Given the description of an element on the screen output the (x, y) to click on. 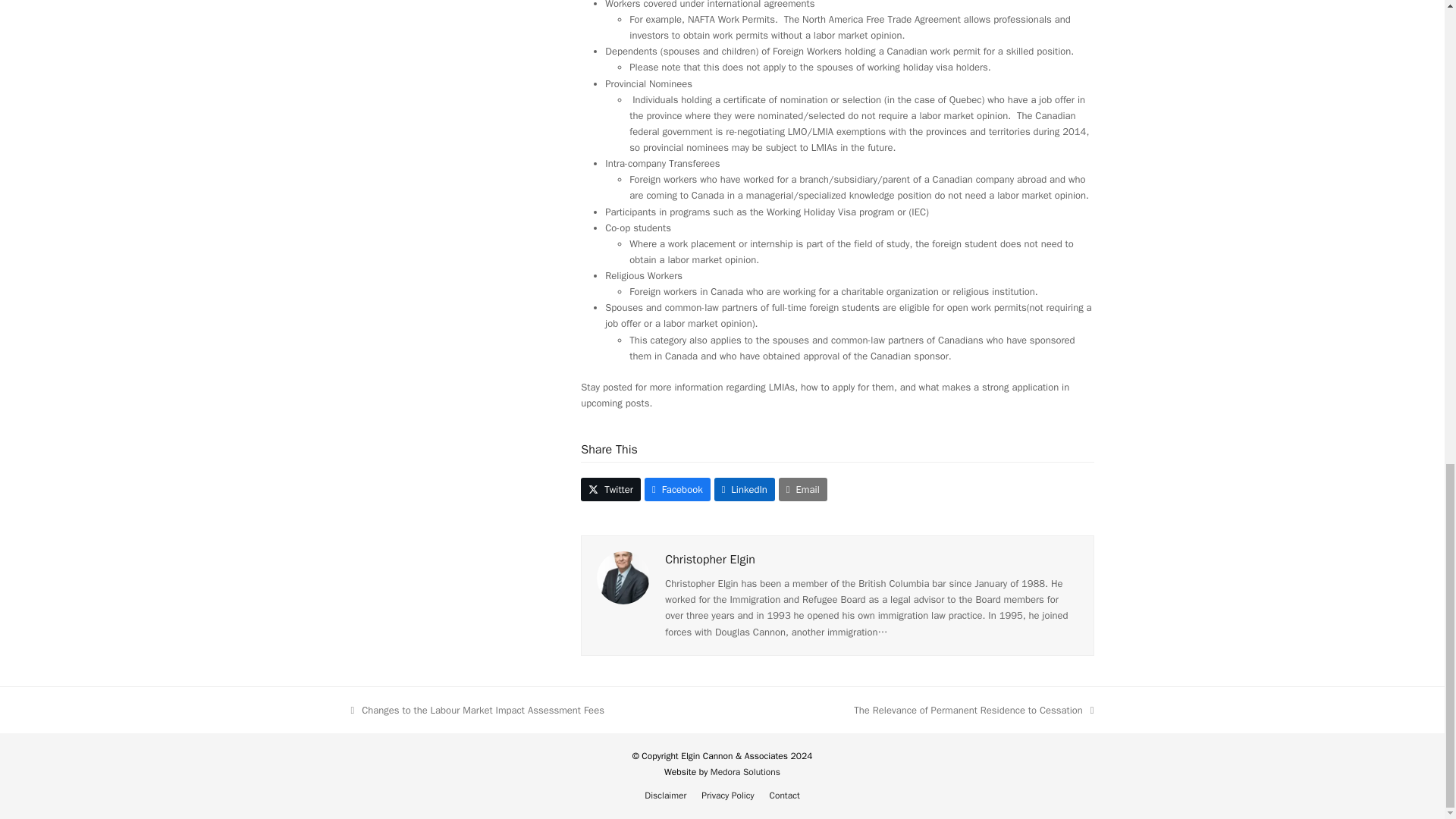
LinkedIn (744, 489)
Medora Solutions (745, 771)
Privacy Policy (727, 795)
Christopher Elgin (710, 559)
Twitter (610, 489)
Contact (784, 795)
Disclaimer (665, 795)
Visit Author Page (622, 576)
Visit Author Page (710, 559)
Email (802, 489)
